Given the description of an element on the screen output the (x, y) to click on. 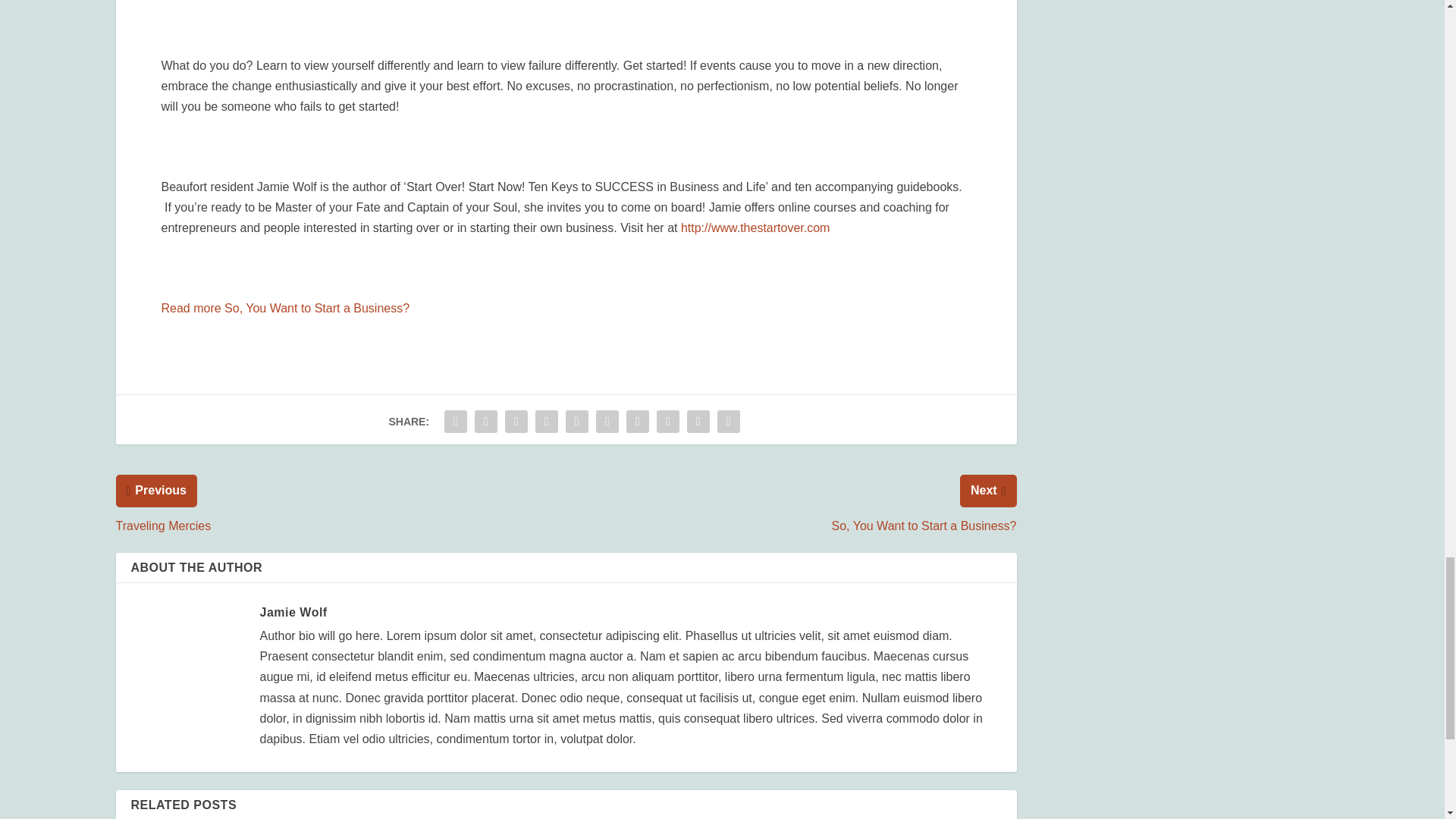
Share "So, You Want to Start A Business?" via Print (728, 421)
Share "So, You Want to Start A Business?" via Facebook (455, 421)
Share "So, You Want to Start A Business?" via Pinterest (577, 421)
Share "So, You Want to Start A Business?" via Twitter (485, 421)
Share "So, You Want to Start A Business?" via Tumblr (546, 421)
Share "So, You Want to Start A Business?" via Stumbleupon (667, 421)
Share "So, You Want to Start A Business?" via Email (697, 421)
Share "So, You Want to Start A Business?" via Buffer (637, 421)
Read more So, You Want to Start a Business? (284, 308)
Share "So, You Want to Start A Business?" via LinkedIn (607, 421)
